Given the description of an element on the screen output the (x, y) to click on. 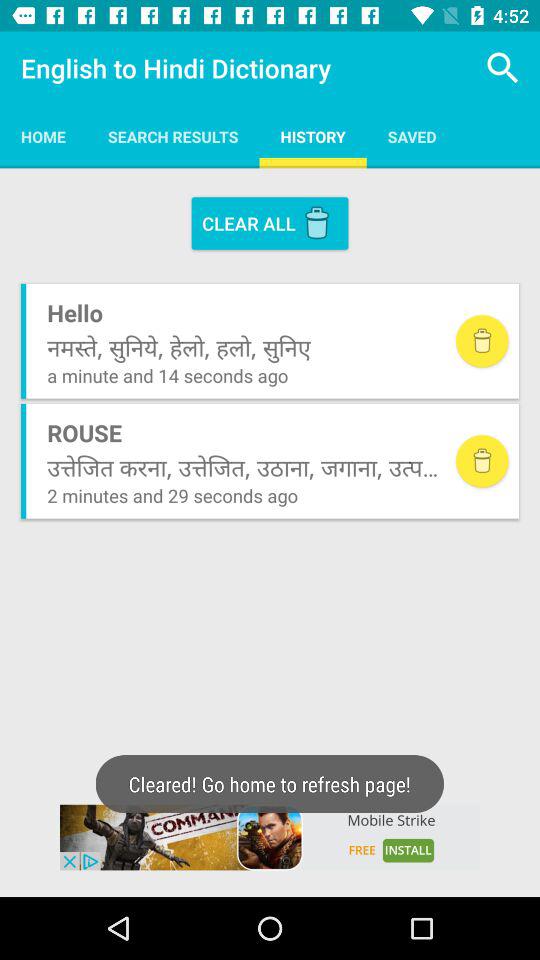
english hindi dictionary (270, 837)
